Given the description of an element on the screen output the (x, y) to click on. 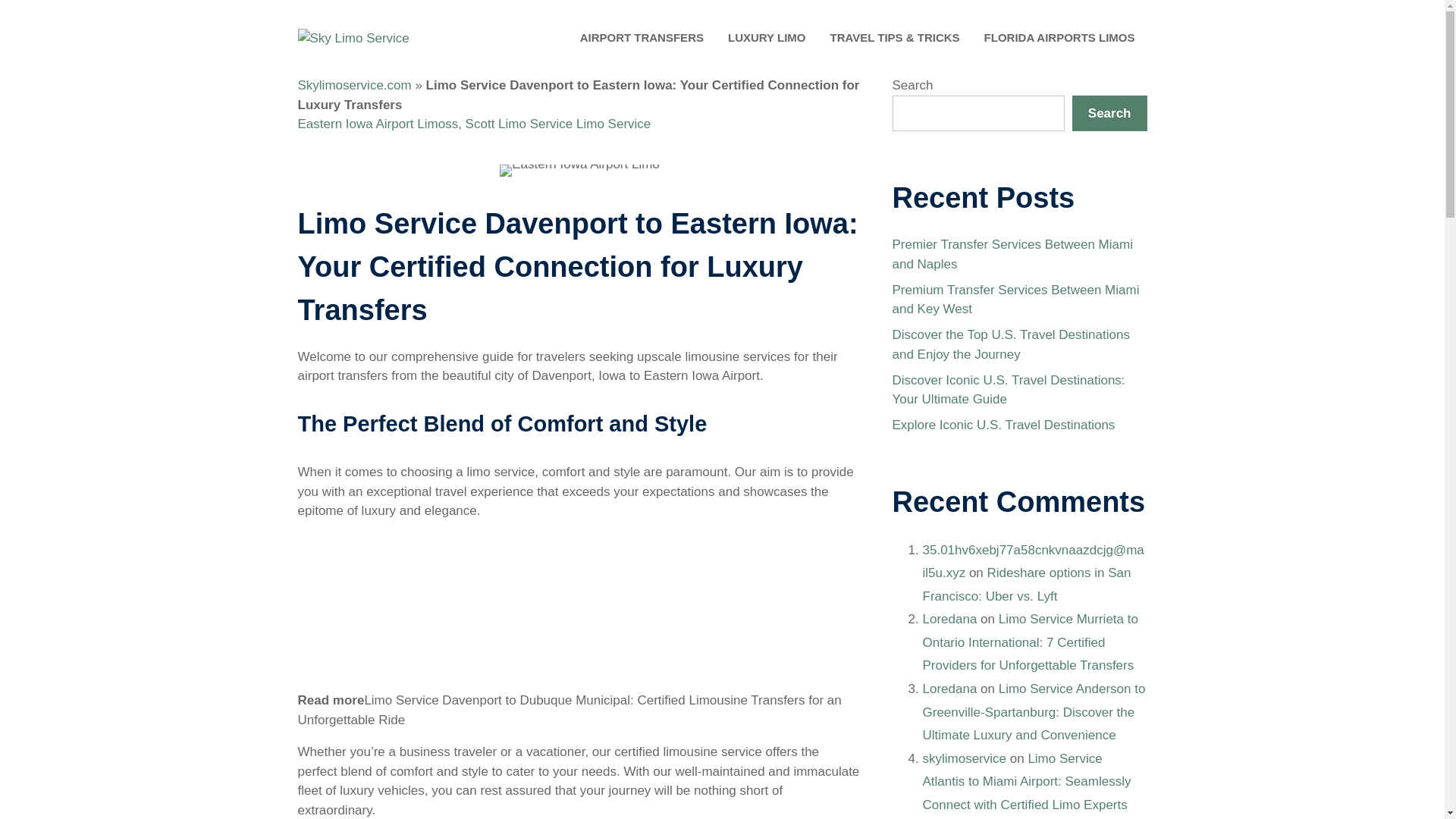
Scott Limo Service Limo Service (557, 124)
AIRPORT TRANSFERS (641, 37)
Loredana (948, 688)
Skylimoservice.com (353, 84)
Premier Transfer Services Between Miami and Naples (1011, 254)
Eastern Iowa Airport Limoss (377, 124)
Rideshare options in San Francisco: Uber vs. Lyft (1026, 584)
LUXURY LIMO (767, 37)
Search (1109, 113)
FLORIDA AIRPORTS LIMOS (1059, 37)
Explore Iconic U.S. Travel Destinations (1003, 424)
